Given the description of an element on the screen output the (x, y) to click on. 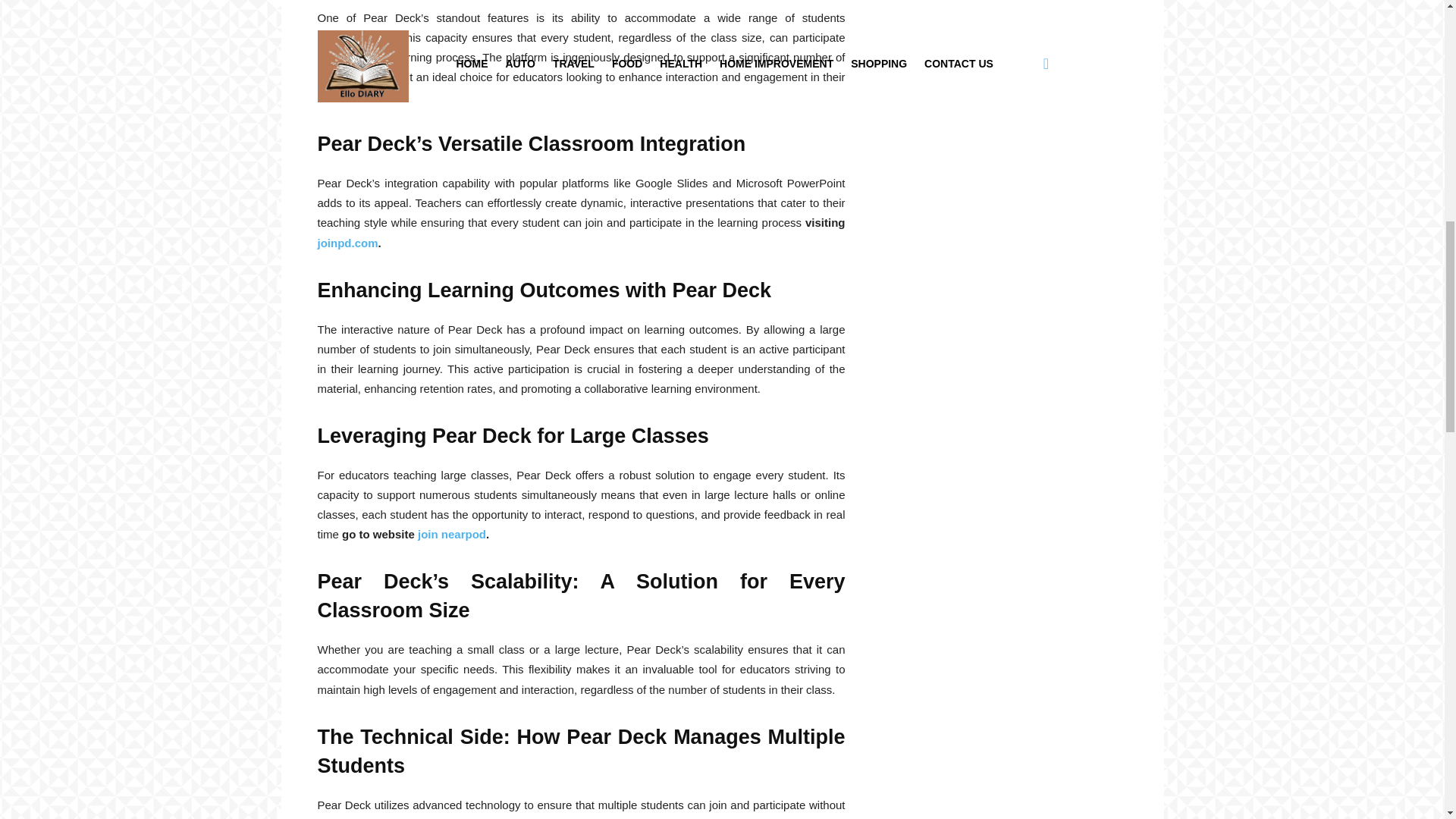
join nearpod (450, 533)
joinpd.com (347, 242)
